Given the description of an element on the screen output the (x, y) to click on. 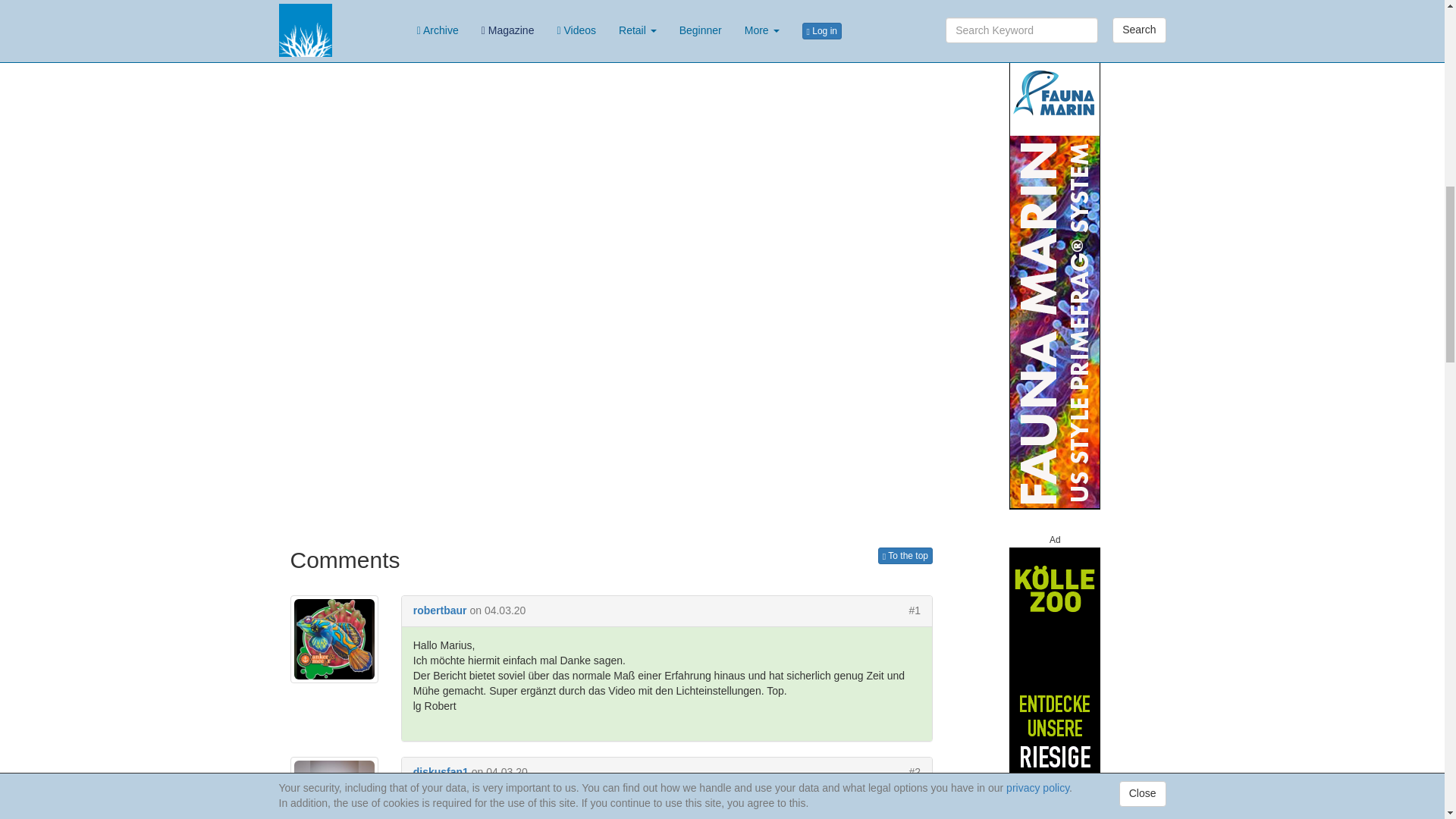
5 (867, 47)
0 (912, 47)
